Given the description of an element on the screen output the (x, y) to click on. 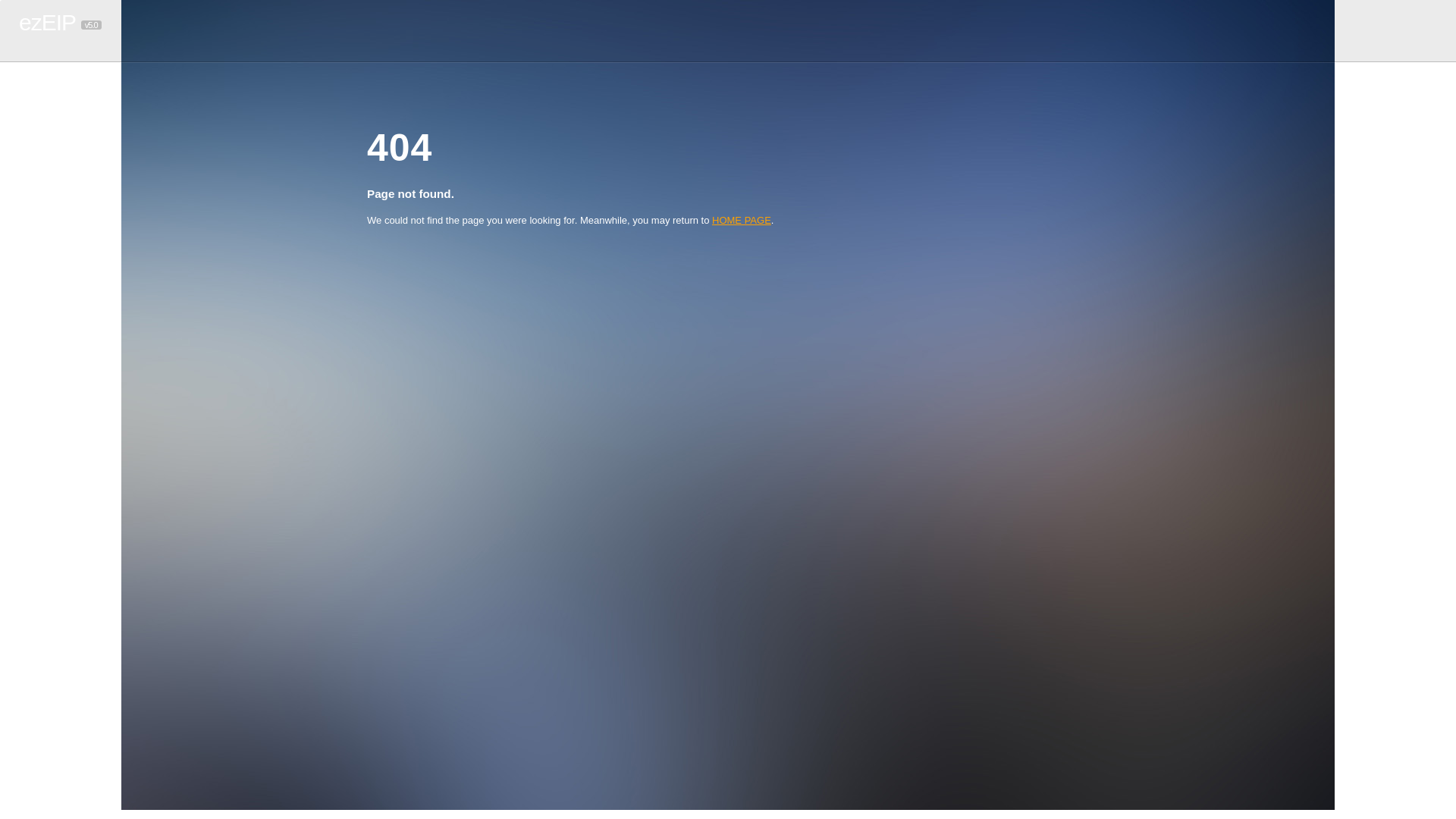
HOME PAGE Element type: text (741, 219)
